Given the description of an element on the screen output the (x, y) to click on. 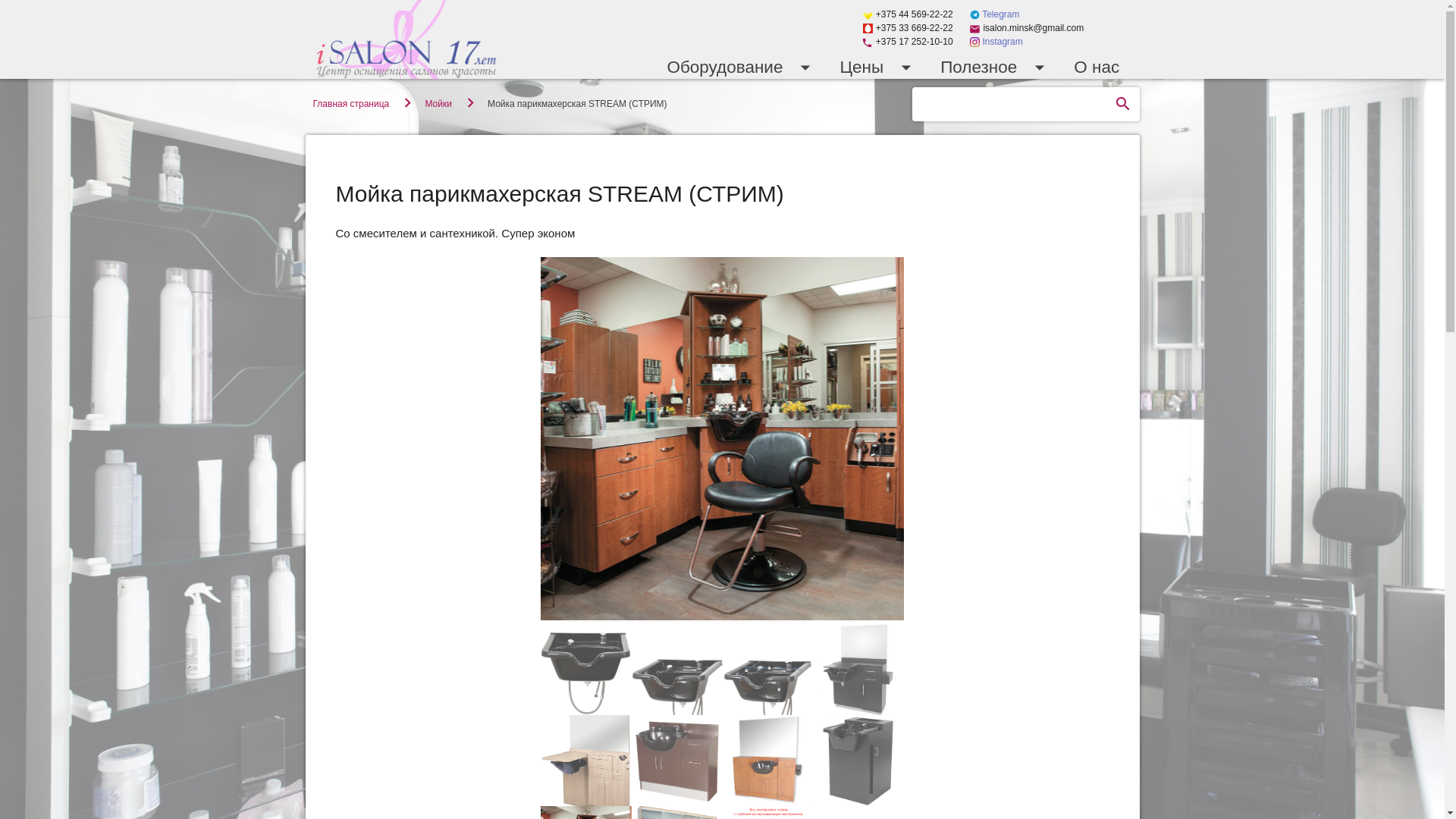
Telegram Element type: text (994, 14)
iSalon Element type: hover (405, 39)
Instagram Element type: text (995, 41)
